Given the description of an element on the screen output the (x, y) to click on. 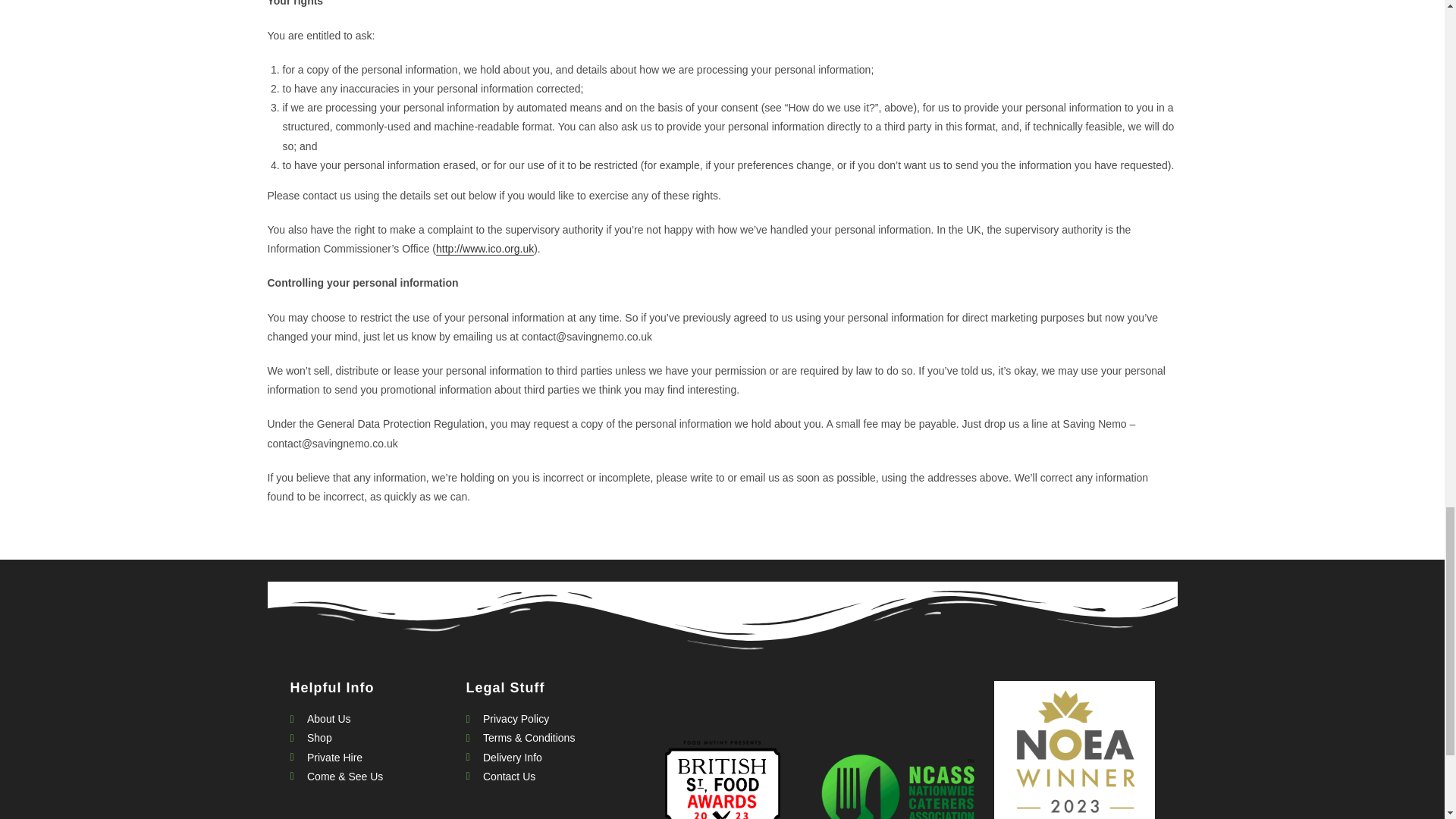
Shop (369, 737)
Privacy Policy (545, 719)
Private Hire (369, 757)
About Us (369, 719)
Delivery Info (545, 757)
Contact Us (545, 776)
